Given the description of an element on the screen output the (x, y) to click on. 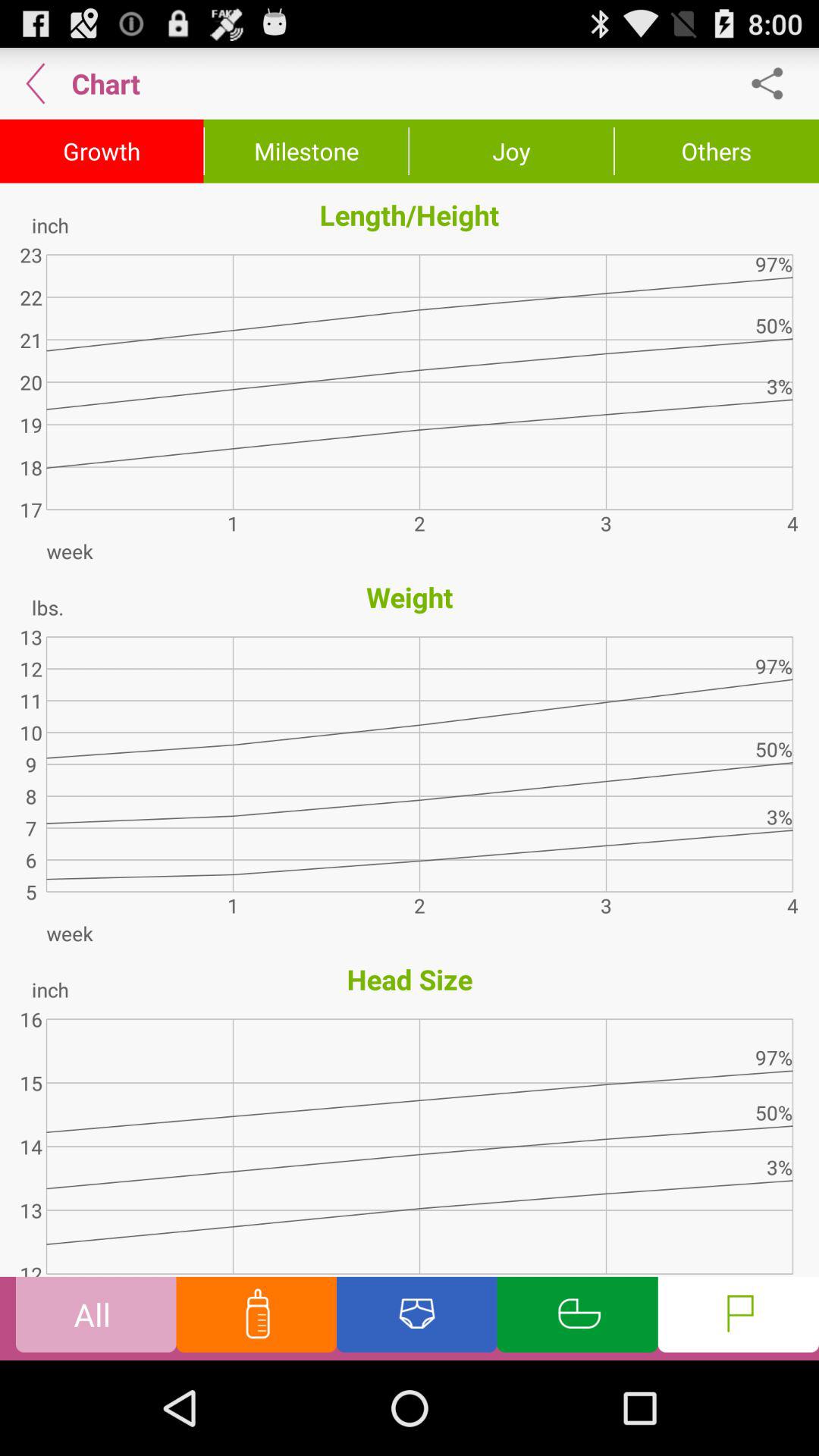
food records (256, 1318)
